Given the description of an element on the screen output the (x, y) to click on. 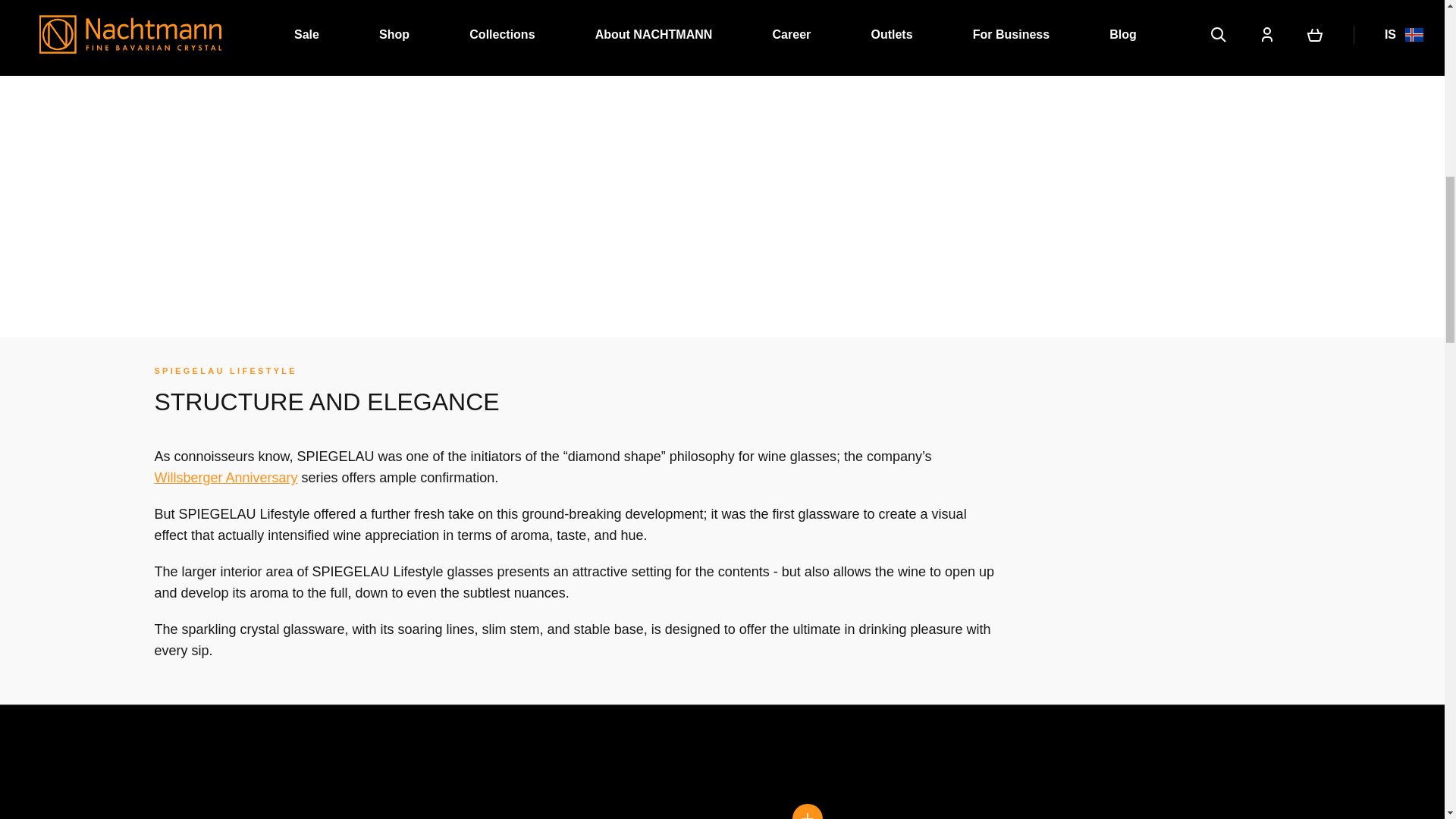
Willsberger Anniversary (225, 477)
